Given the description of an element on the screen output the (x, y) to click on. 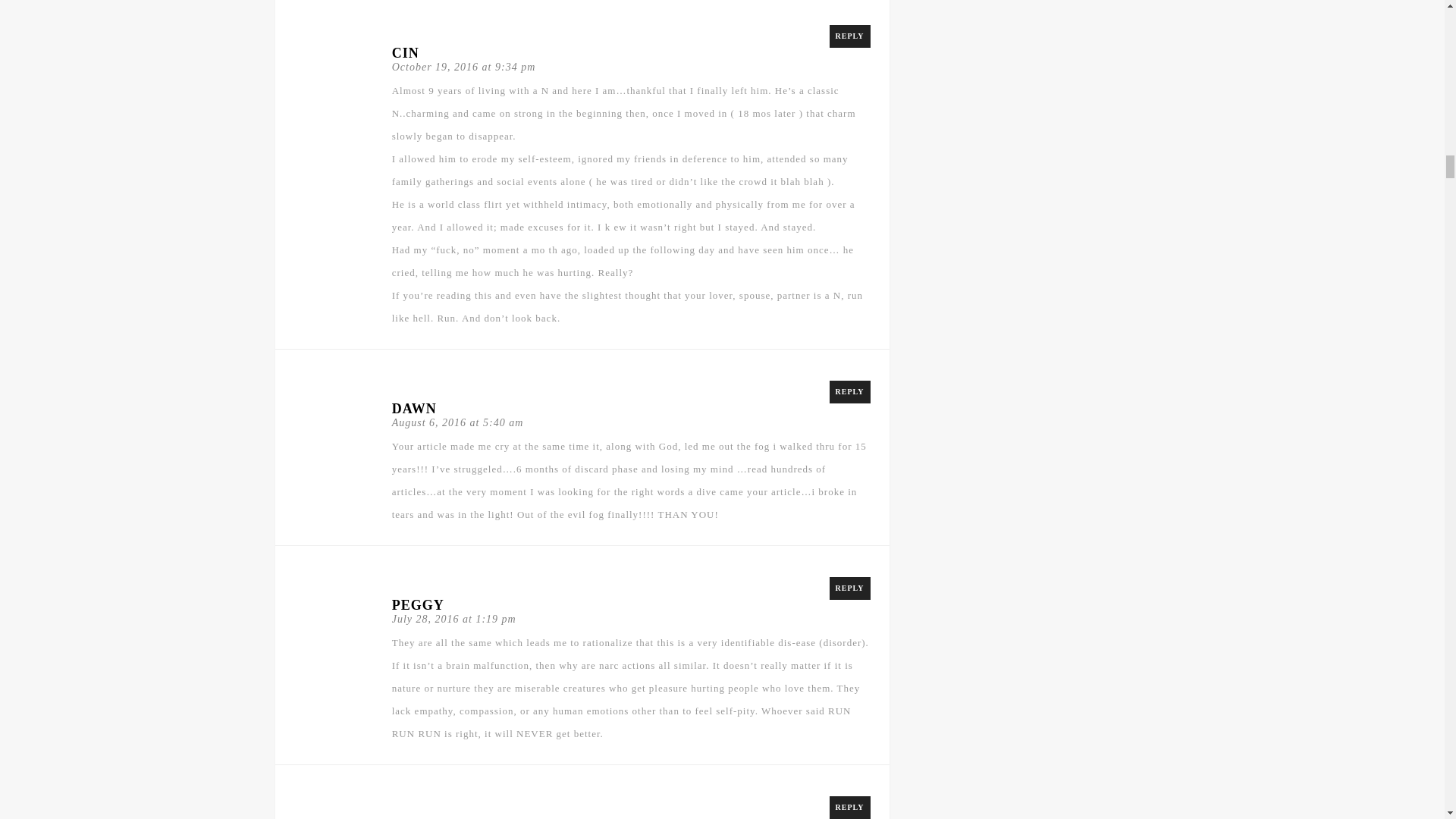
REPLY (849, 391)
REPLY (849, 36)
REPLY (849, 807)
REPLY (849, 588)
